Given the description of an element on the screen output the (x, y) to click on. 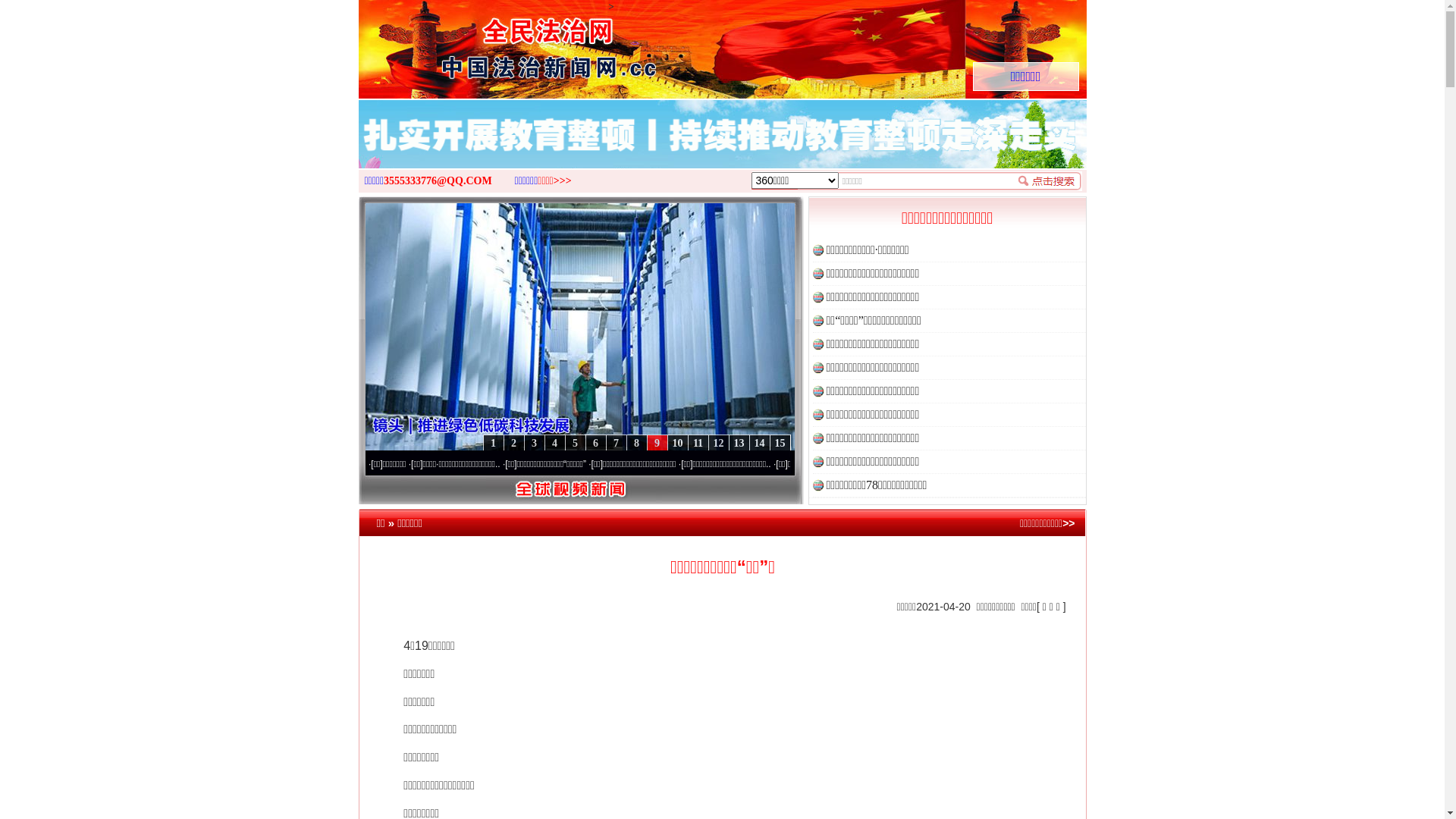
11 Element type: text (697, 442)
7 Element type: text (615, 442)
2 Element type: text (513, 442)
14 Element type: text (759, 442)
3 Element type: text (533, 442)
12 Element type: text (718, 442)
3555333776@QQ.COM Element type: text (437, 180)
1 Element type: text (492, 442)
15 Element type: text (778, 442)
13 Element type: text (738, 442)
4 Element type: text (554, 442)
9 Element type: text (656, 442)
10 Element type: text (677, 442)
6 Element type: text (595, 442)
8 Element type: text (636, 442)
5 Element type: text (574, 442)
